Given the description of an element on the screen output the (x, y) to click on. 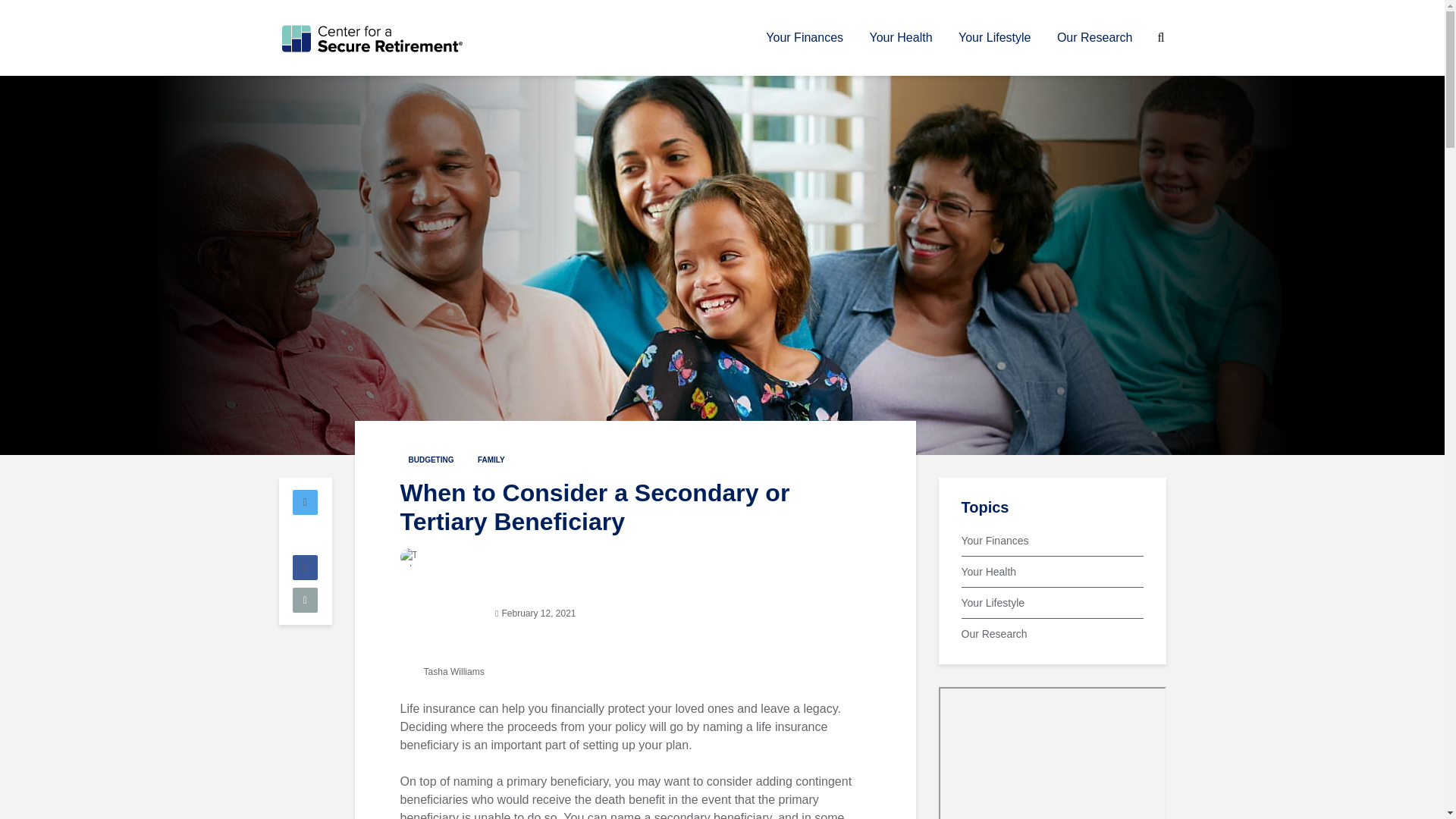
Our Research (1094, 37)
Your Finances (804, 37)
BUDGETING (431, 459)
Your Lifestyle (994, 37)
Tasha Williams (442, 671)
FAMILY (490, 459)
Your Health (901, 37)
